Given the description of an element on the screen output the (x, y) to click on. 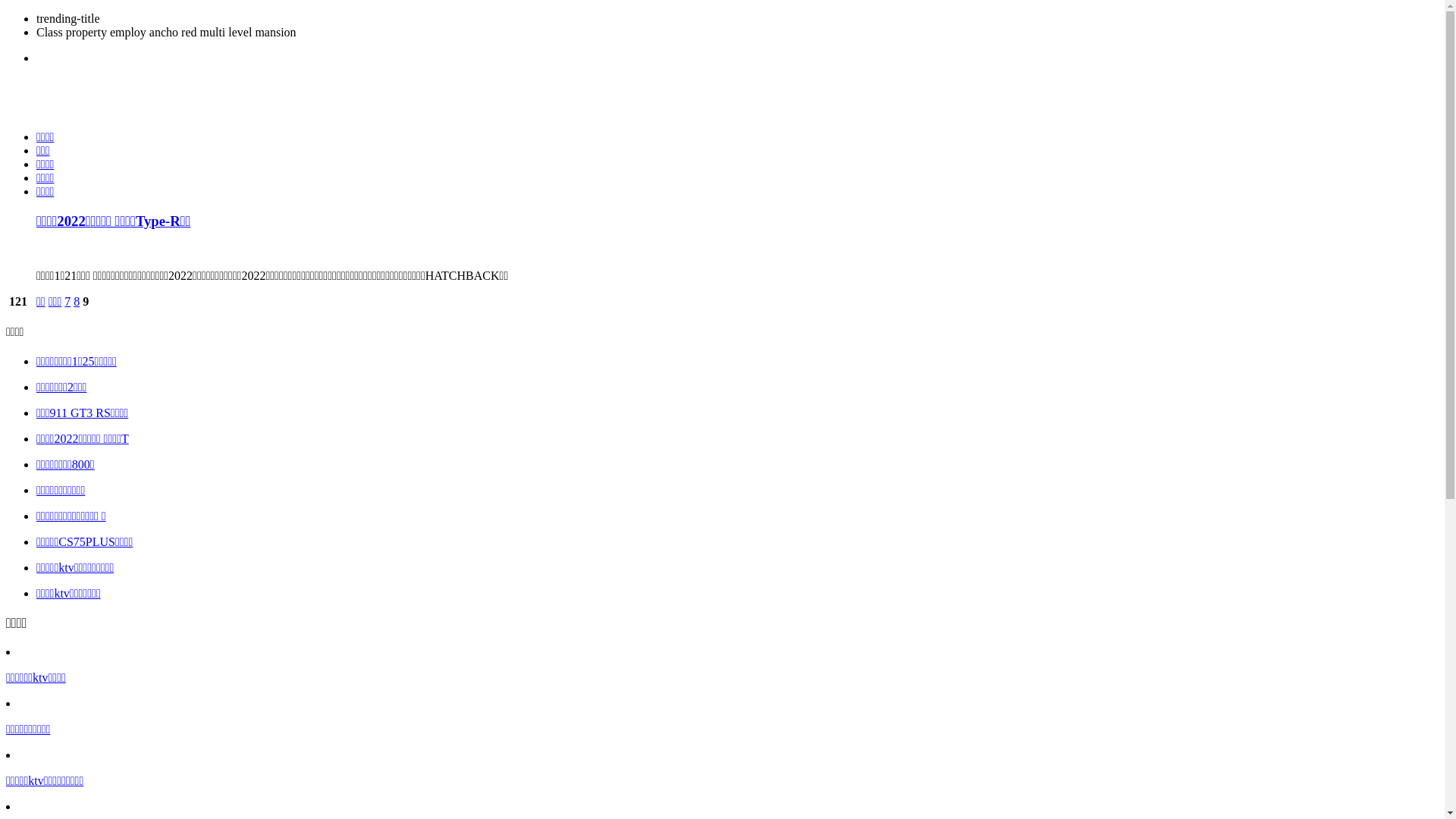
8 Element type: text (76, 300)
 121 Element type: text (18, 300)
7 Element type: text (67, 300)
